Given the description of an element on the screen output the (x, y) to click on. 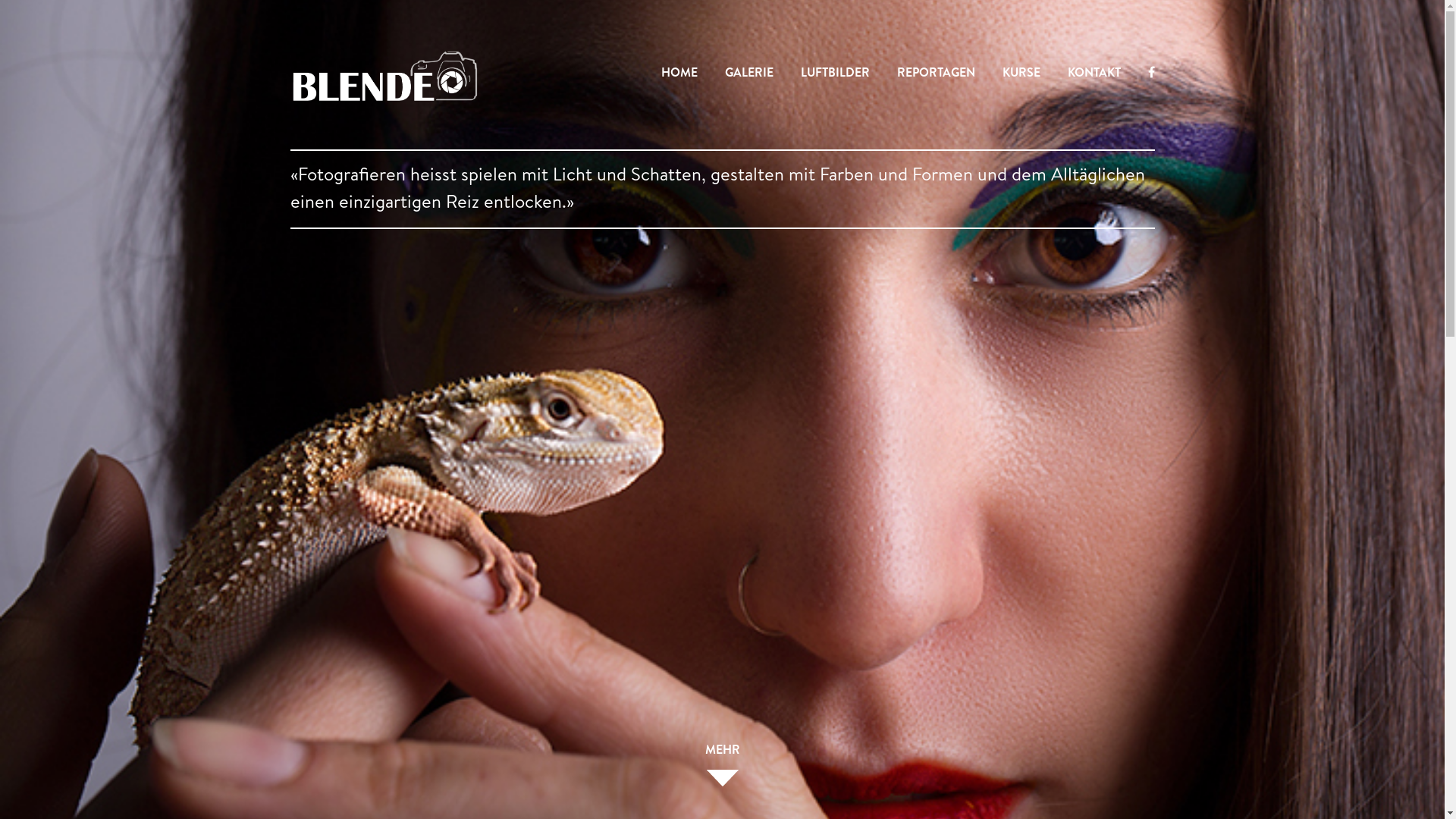
GALERIE Element type: text (748, 72)
Weiter zum Inhalt Element type: text (0, 0)
HOME Element type: text (679, 72)
MEHR Element type: text (721, 760)
KURSE Element type: text (1021, 72)
LUFTBILDER Element type: text (834, 72)
KONTAKT Element type: text (1093, 72)
REPORTAGEN Element type: text (935, 72)
